Given the description of an element on the screen output the (x, y) to click on. 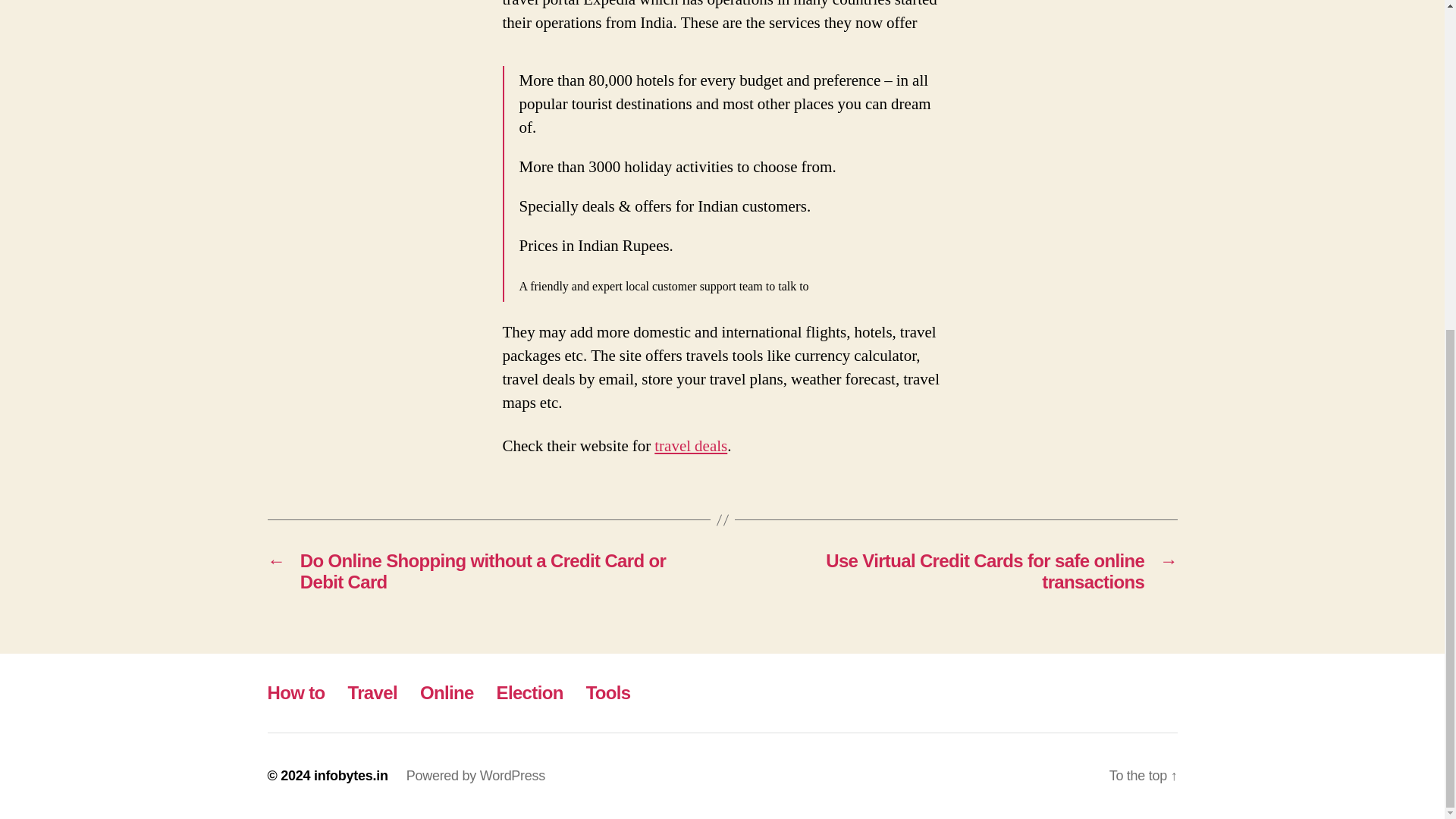
Tools (608, 692)
Powered by WordPress (475, 775)
Tools to Save time (608, 692)
Travel (371, 692)
How to (295, 692)
Hotel and travel booking (689, 445)
infobytes.in (351, 775)
Election (529, 692)
Online (447, 692)
travel deals (689, 445)
